Given the description of an element on the screen output the (x, y) to click on. 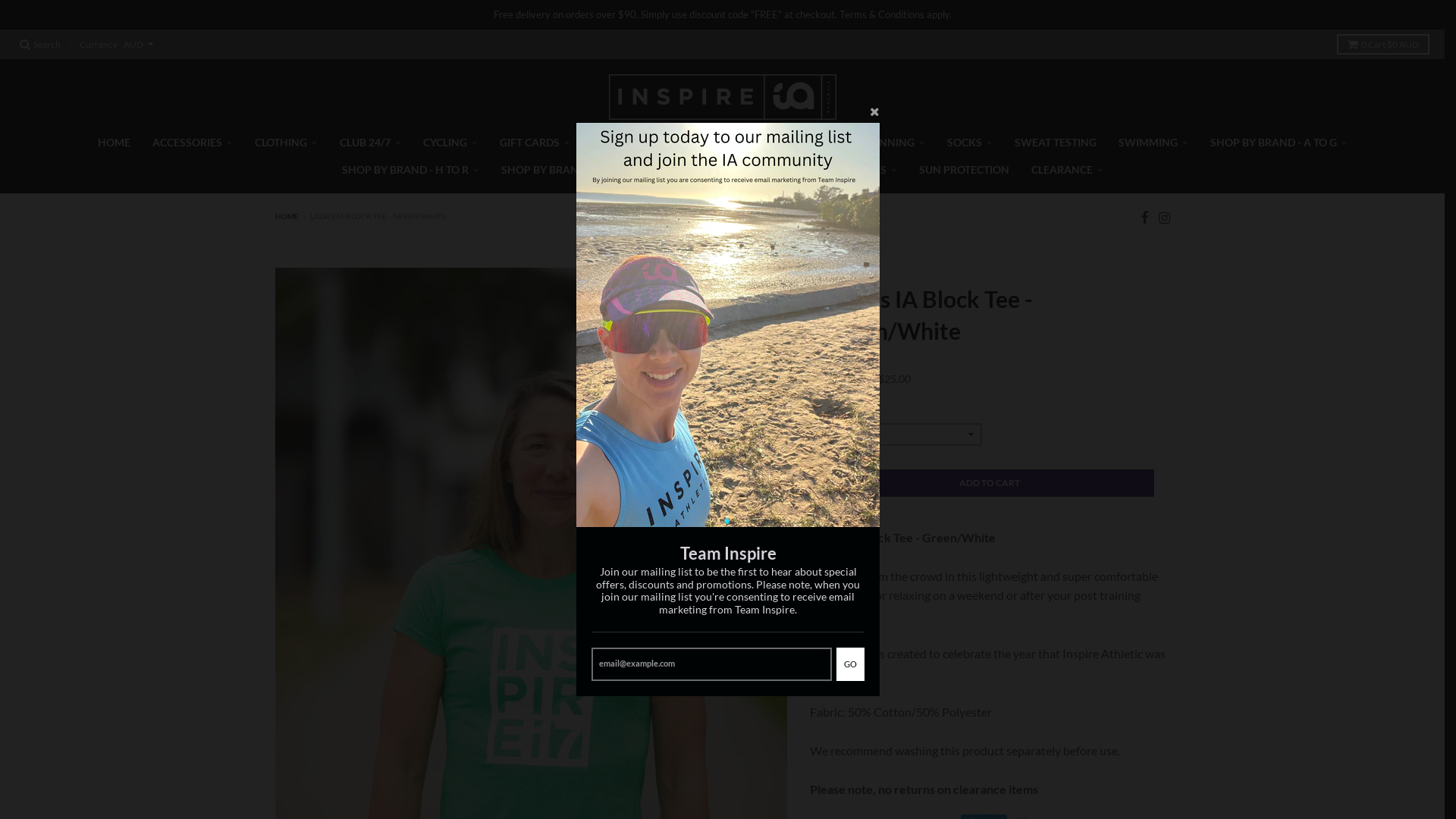
RECOVERY Element type: text (808, 142)
SUN PROTECTION Element type: text (963, 169)
ACCESSORIES Element type: text (192, 142)
CLUB 24/7 Element type: text (369, 142)
GIFT CARDS Element type: text (534, 142)
CLEARANCE Element type: text (1066, 169)
SWEAT TESTING Element type: text (1054, 142)
RUNNING Element type: text (893, 142)
GO Element type: text (850, 663)
CLOTHING Element type: text (285, 142)
NUTRITION Element type: text (720, 142)
SHOP BY BRAND - H TO R Element type: text (410, 169)
HOME Element type: text (113, 142)
0 Cart $0 AUD Element type: text (1382, 44)
CYCLING Element type: text (449, 142)
HEADWEAR Element type: text (628, 142)
SPORTS BOTTLES/FLASKS Element type: text (726, 169)
SOCKS Element type: text (969, 142)
Search Element type: text (40, 44)
Inspire Athletic on Instagram Element type: hover (1164, 217)
HOME Element type: text (286, 215)
SHOP BY BRAND - A TO G Element type: text (1277, 142)
ADD TO CART Element type: text (989, 482)
SHOP BY BRAND - S TO Z Element type: text (568, 169)
SUNGLASSES Element type: text (857, 169)
Inspire Athletic on Facebook Element type: hover (1144, 217)
SWIMMING Element type: text (1153, 142)
